Given the description of an element on the screen output the (x, y) to click on. 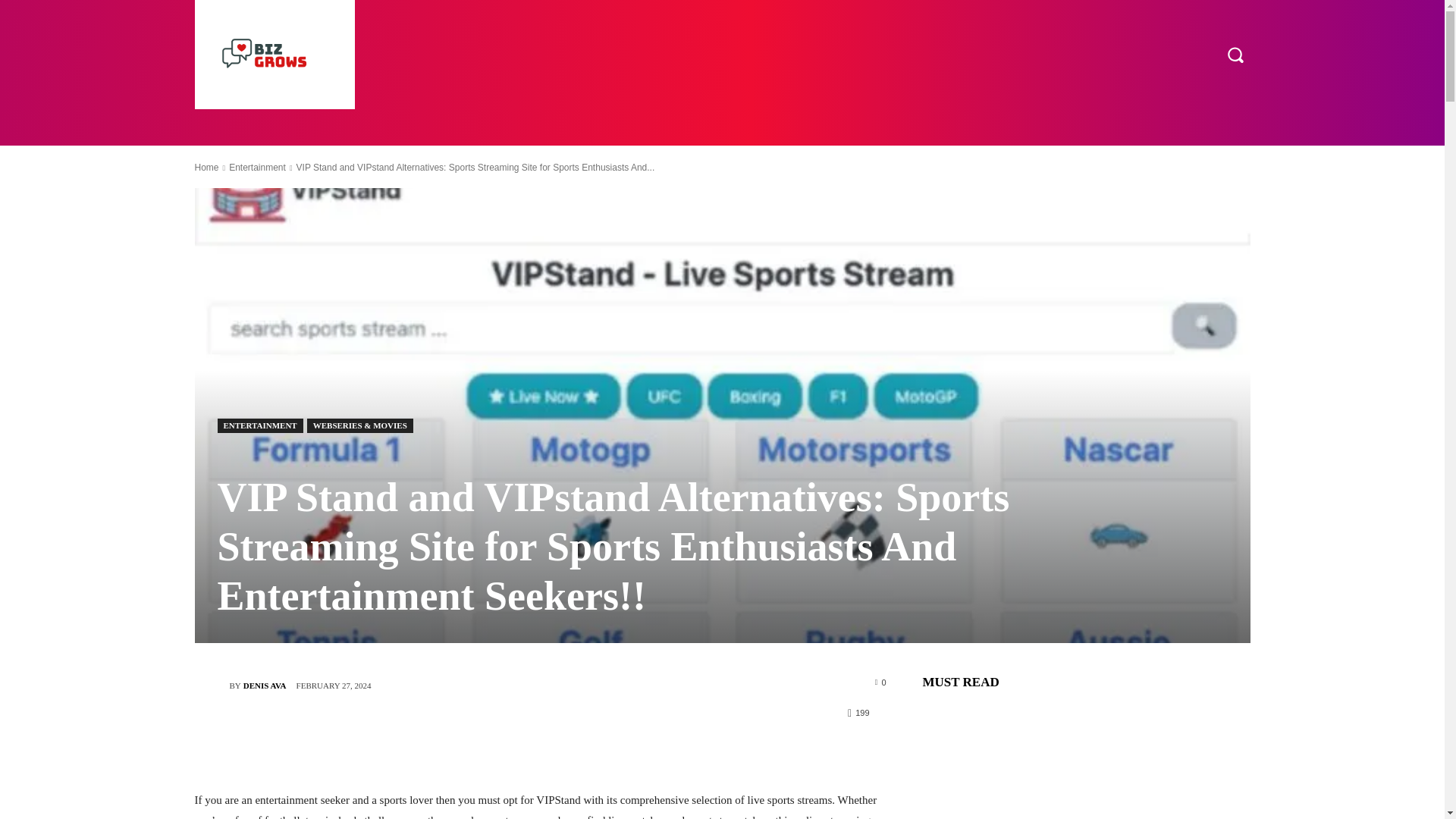
Home (205, 167)
ENTERTAINMENT (259, 425)
Entertainment (256, 167)
View all posts in Entertainment (256, 167)
Bizgrows (273, 54)
